Given the description of an element on the screen output the (x, y) to click on. 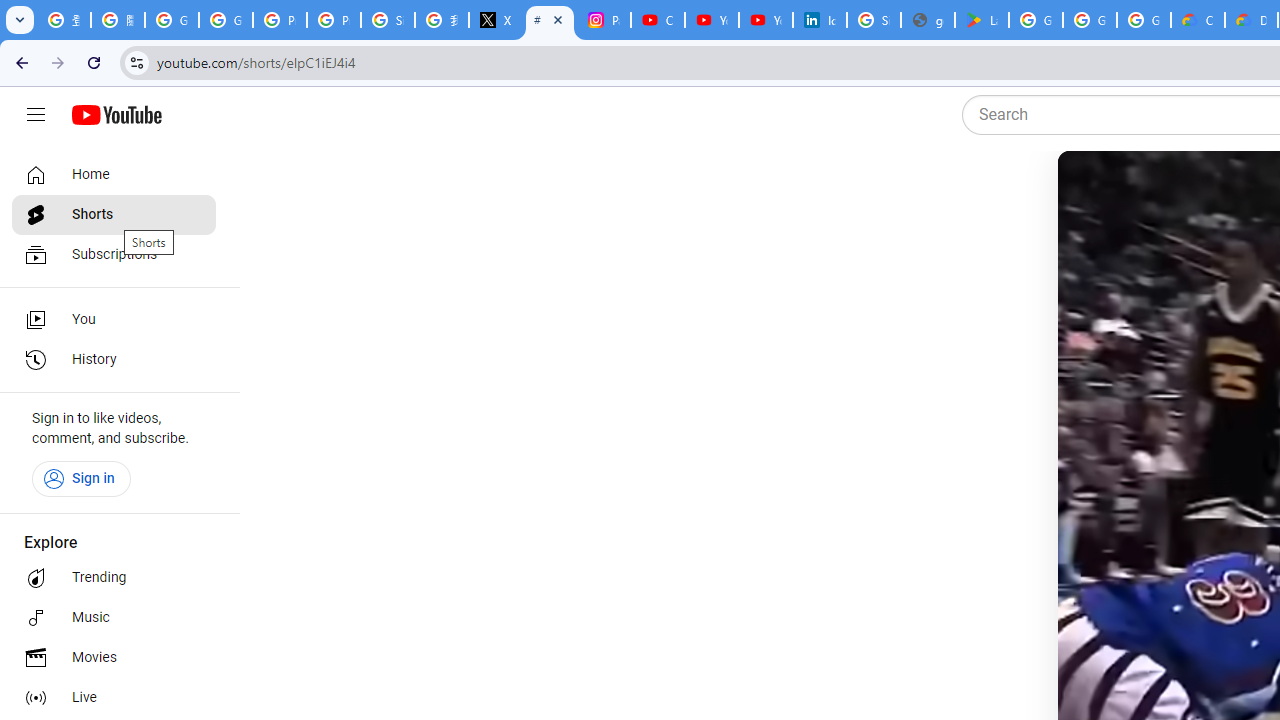
Mute (1161, 191)
Google Workspace - Specific Terms (1144, 20)
Privacy Help Center - Policies Help (333, 20)
History (113, 359)
Shorts (113, 214)
Pause (k) (1097, 191)
Subscriptions (113, 254)
Sign in - Google Accounts (387, 20)
google_privacy_policy_en.pdf (927, 20)
